Given the description of an element on the screen output the (x, y) to click on. 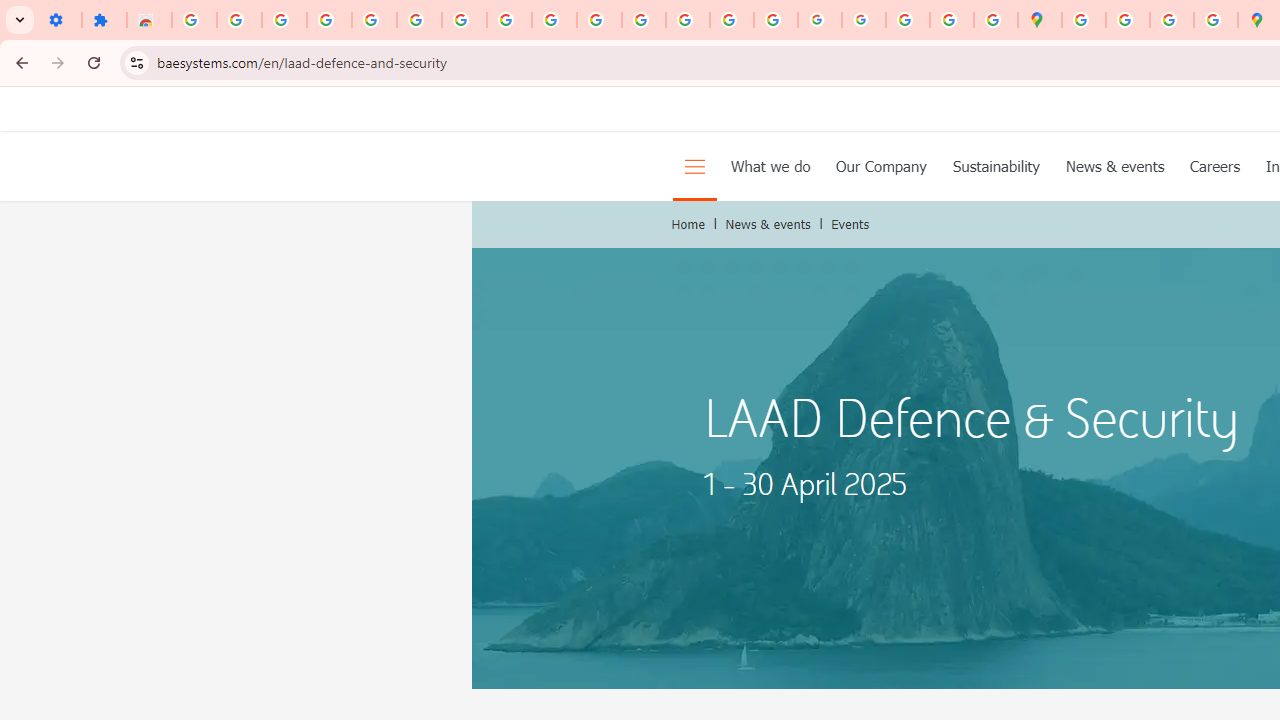
Learn how to find your photos - Google Photos Help (329, 20)
Settings - On startup (59, 20)
Google Maps (1039, 20)
Sign in - Google Accounts (194, 20)
Google Account (509, 20)
Sign in - Google Accounts (418, 20)
Events (850, 223)
Home (688, 223)
